Given the description of an element on the screen output the (x, y) to click on. 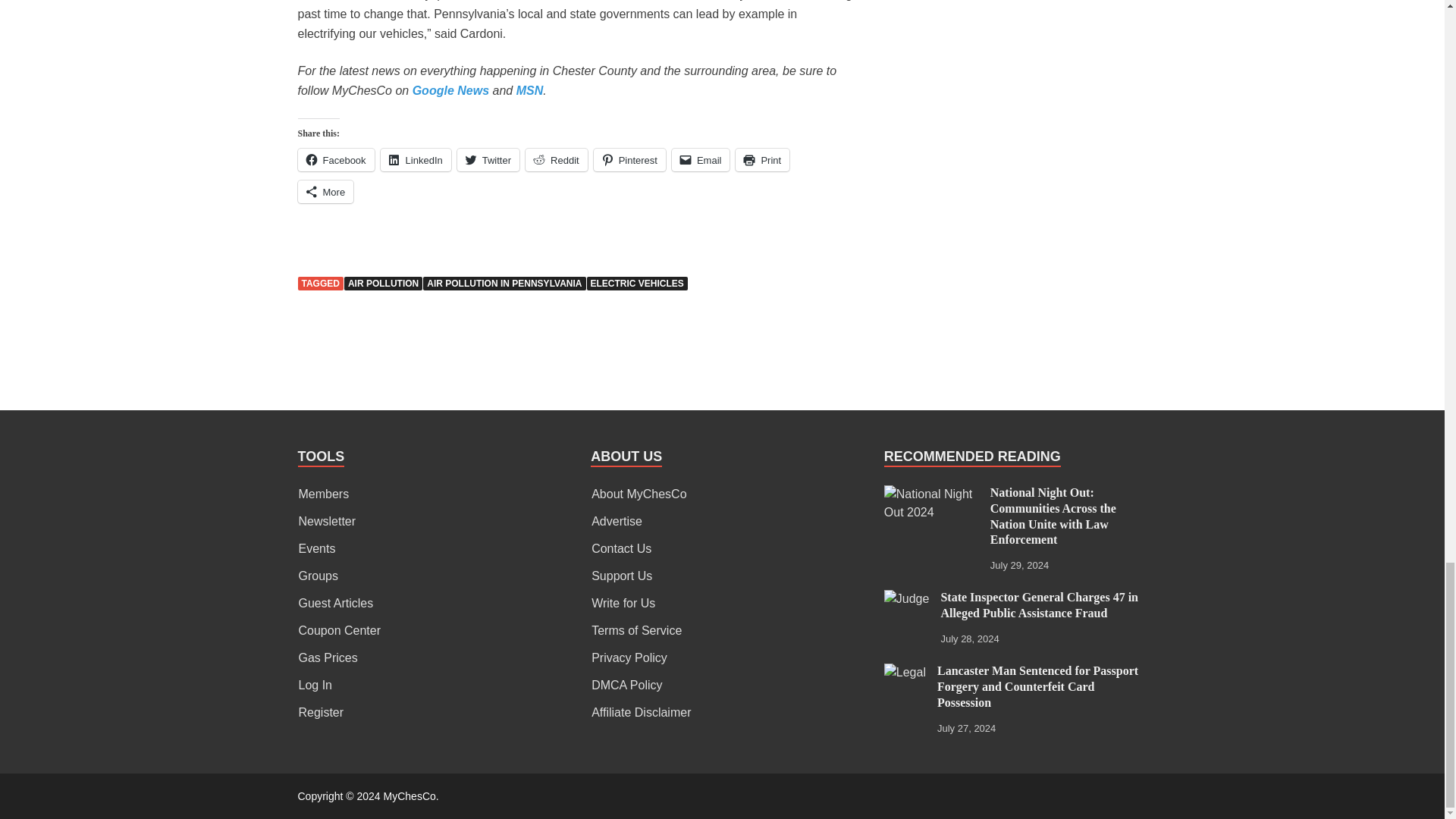
Click to email a link to a friend (700, 159)
Click to share on Reddit (556, 159)
Click to share on Twitter (488, 159)
Click to share on Pinterest (629, 159)
Click to share on Facebook (335, 159)
Click to print (762, 159)
Click to share on LinkedIn (415, 159)
